Given the description of an element on the screen output the (x, y) to click on. 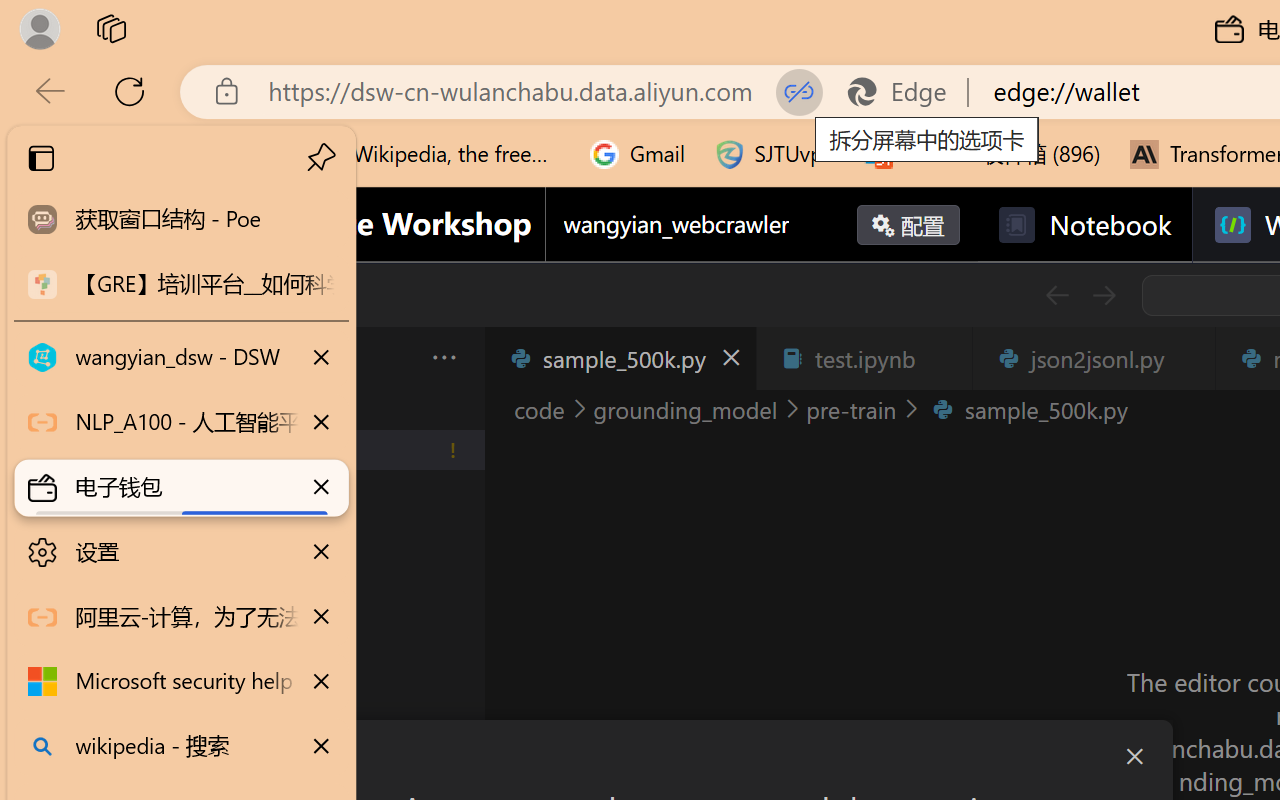
Close (Ctrl+F4) (1188, 358)
test.ipynb (864, 358)
Explorer Section: wangyian (331, 409)
Class: menubar compact overflow-menu-only (135, 358)
Edge (905, 91)
Go Forward (Alt+RightArrow) (1102, 295)
Microsoft security help and learning (181, 681)
Gmail (637, 154)
